Given the description of an element on the screen output the (x, y) to click on. 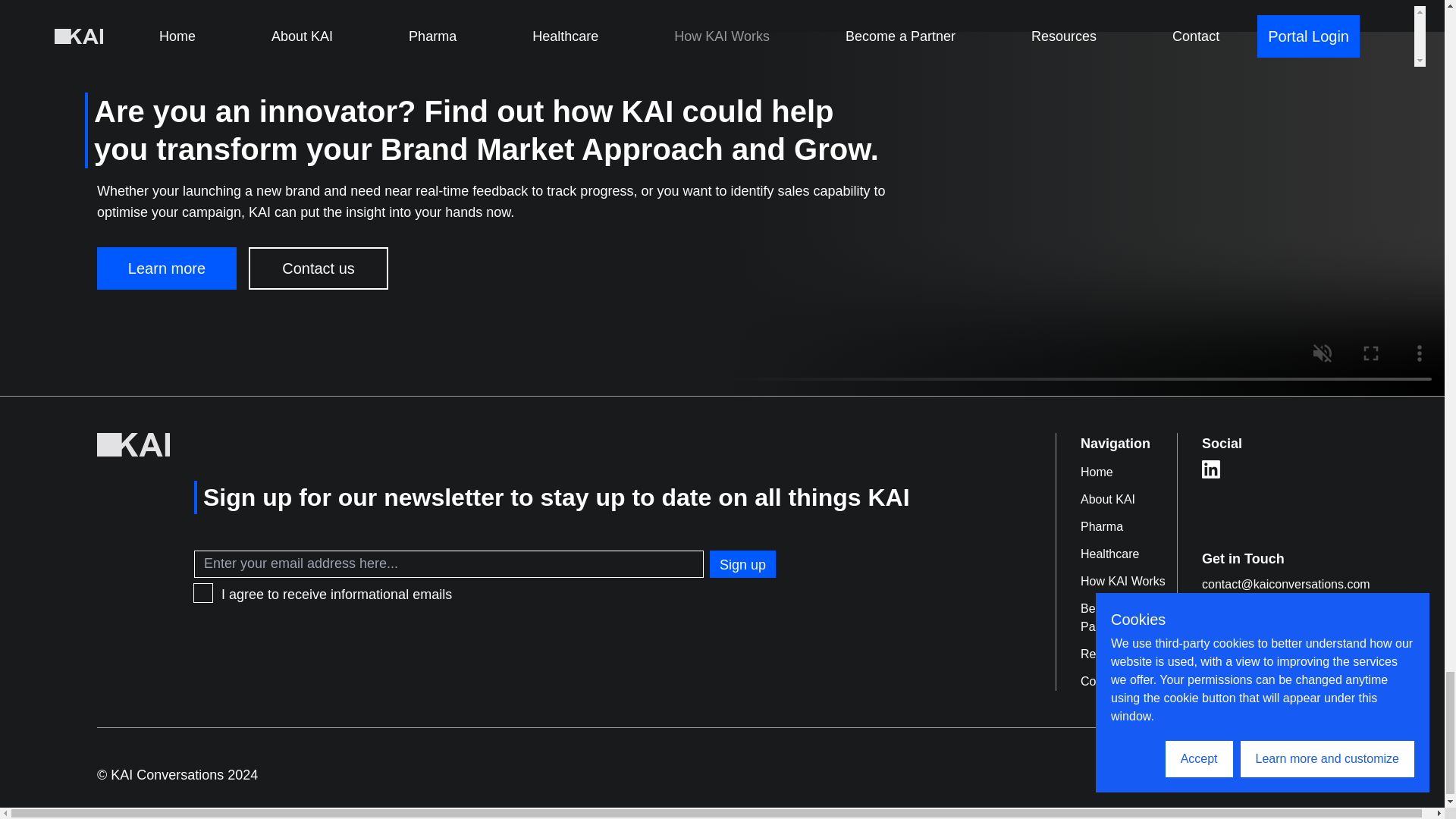
Become a Partner (1128, 613)
About KAI (1128, 494)
Healthcare (1128, 549)
Privacy Policy (1305, 774)
Home (1128, 467)
Pharma (1128, 522)
Terms of Use (1191, 774)
Sign up (743, 564)
Learn more (166, 267)
Contact us (318, 267)
Contact (1128, 677)
false (202, 592)
How KAI Works (1128, 576)
Resources (1128, 649)
